Given the description of an element on the screen output the (x, y) to click on. 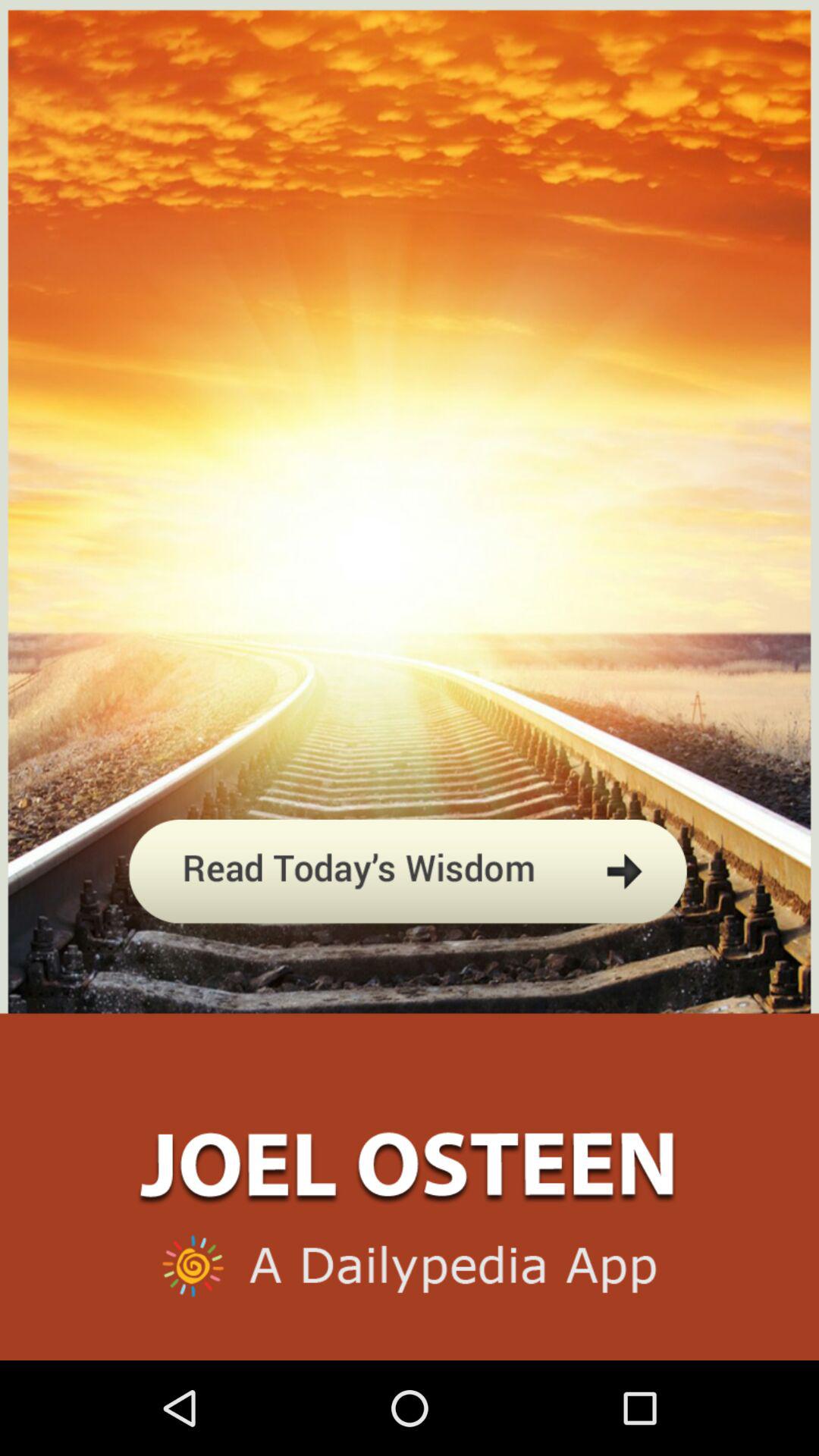
read today 's wisdom button (408, 943)
